Given the description of an element on the screen output the (x, y) to click on. 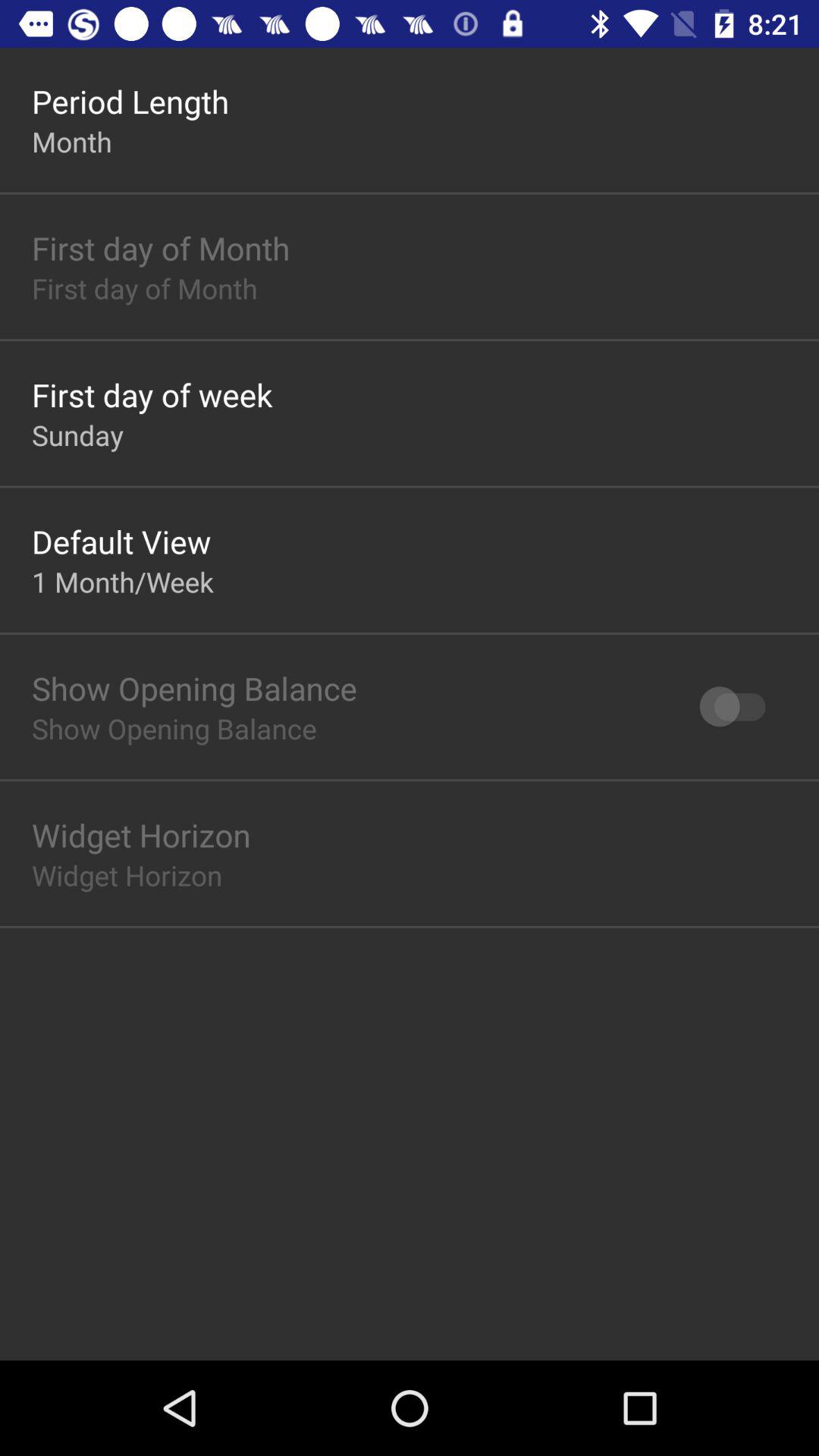
open sunday icon (77, 434)
